Given the description of an element on the screen output the (x, y) to click on. 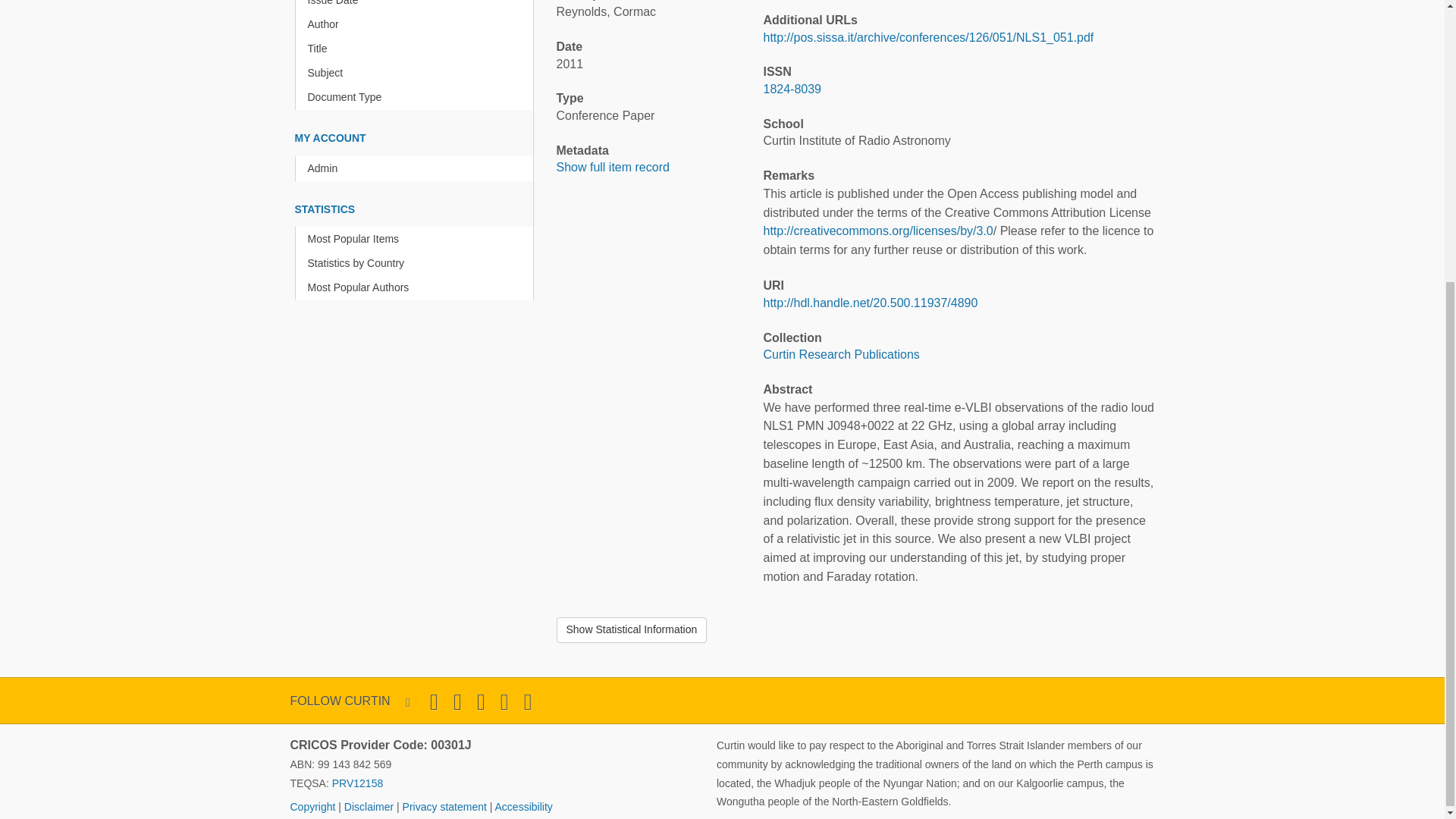
Admin (416, 168)
Show full item record (612, 166)
Subject (416, 72)
Issue Date (416, 6)
Most Popular Items (416, 238)
Title (416, 48)
Show Statistical Information (631, 629)
1824-8039 (791, 88)
Document Type (416, 97)
Author (416, 24)
